Given the description of an element on the screen output the (x, y) to click on. 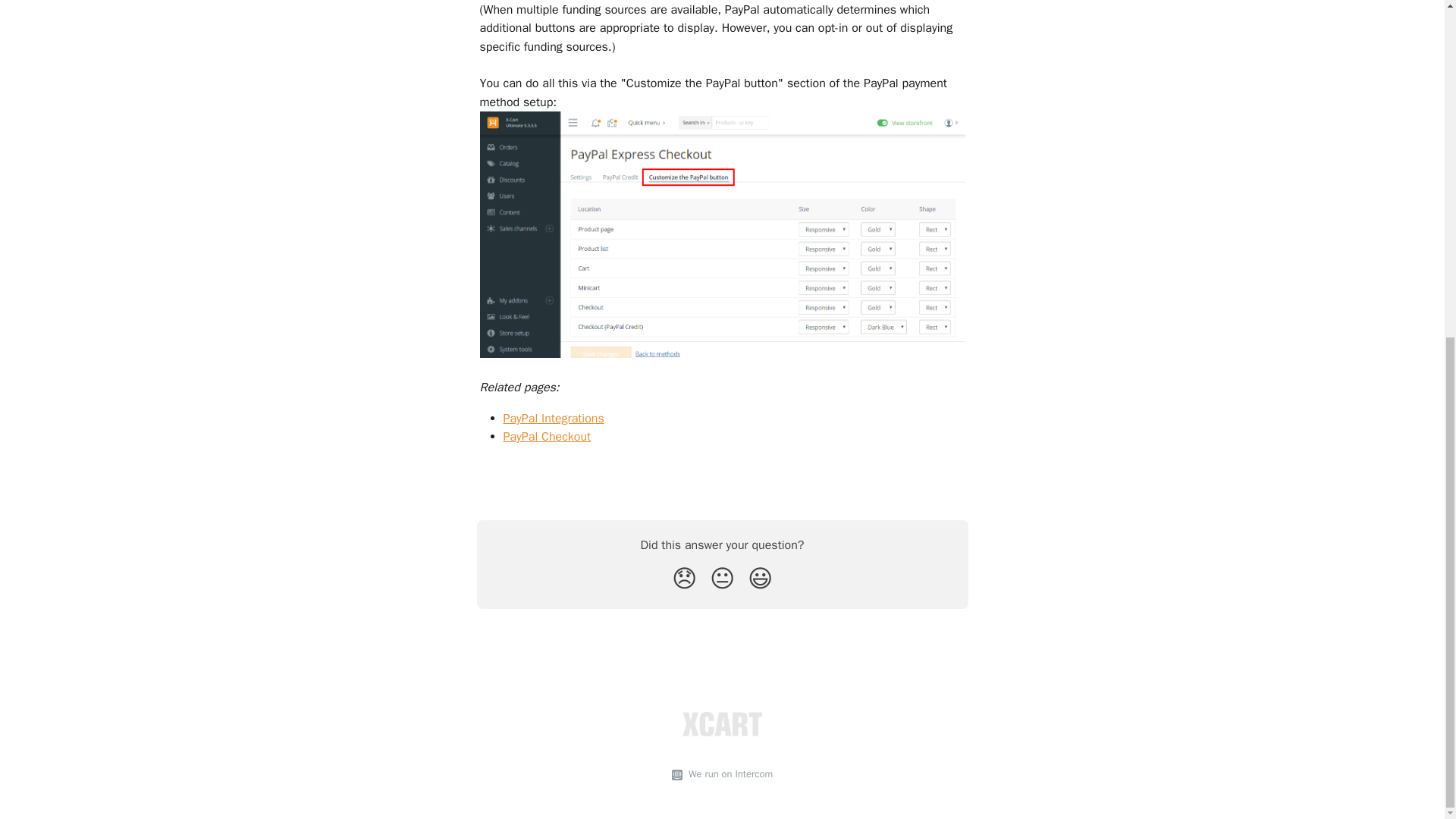
We run on Intercom (727, 774)
PayPal Checkout (547, 436)
PayPal Integrations (553, 418)
